Given the description of an element on the screen output the (x, y) to click on. 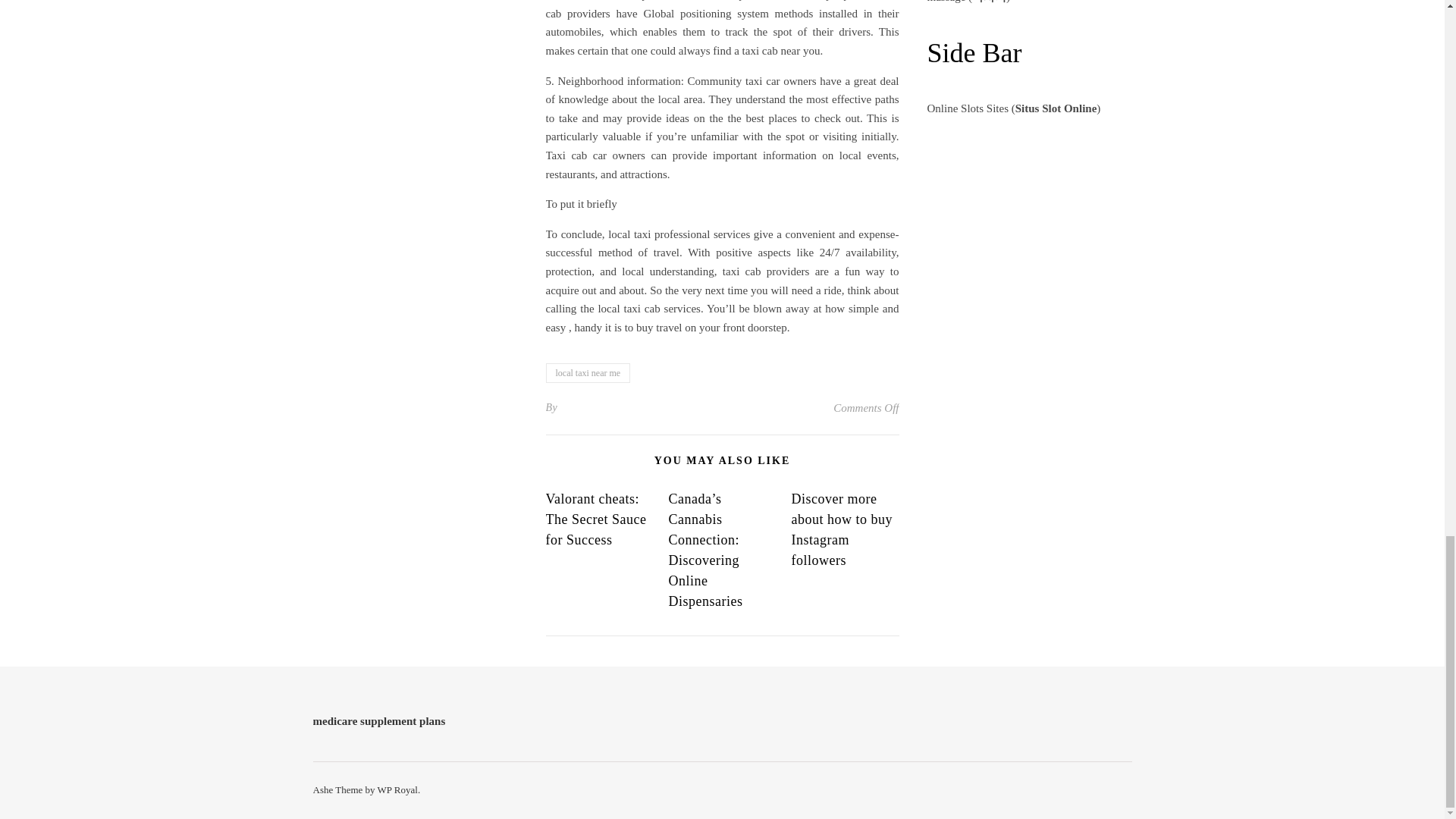
Discover more about how to buy Instagram followers (841, 529)
local taxi near me (588, 373)
Valorant cheats: The Secret Sauce for Success (596, 519)
